Given the description of an element on the screen output the (x, y) to click on. 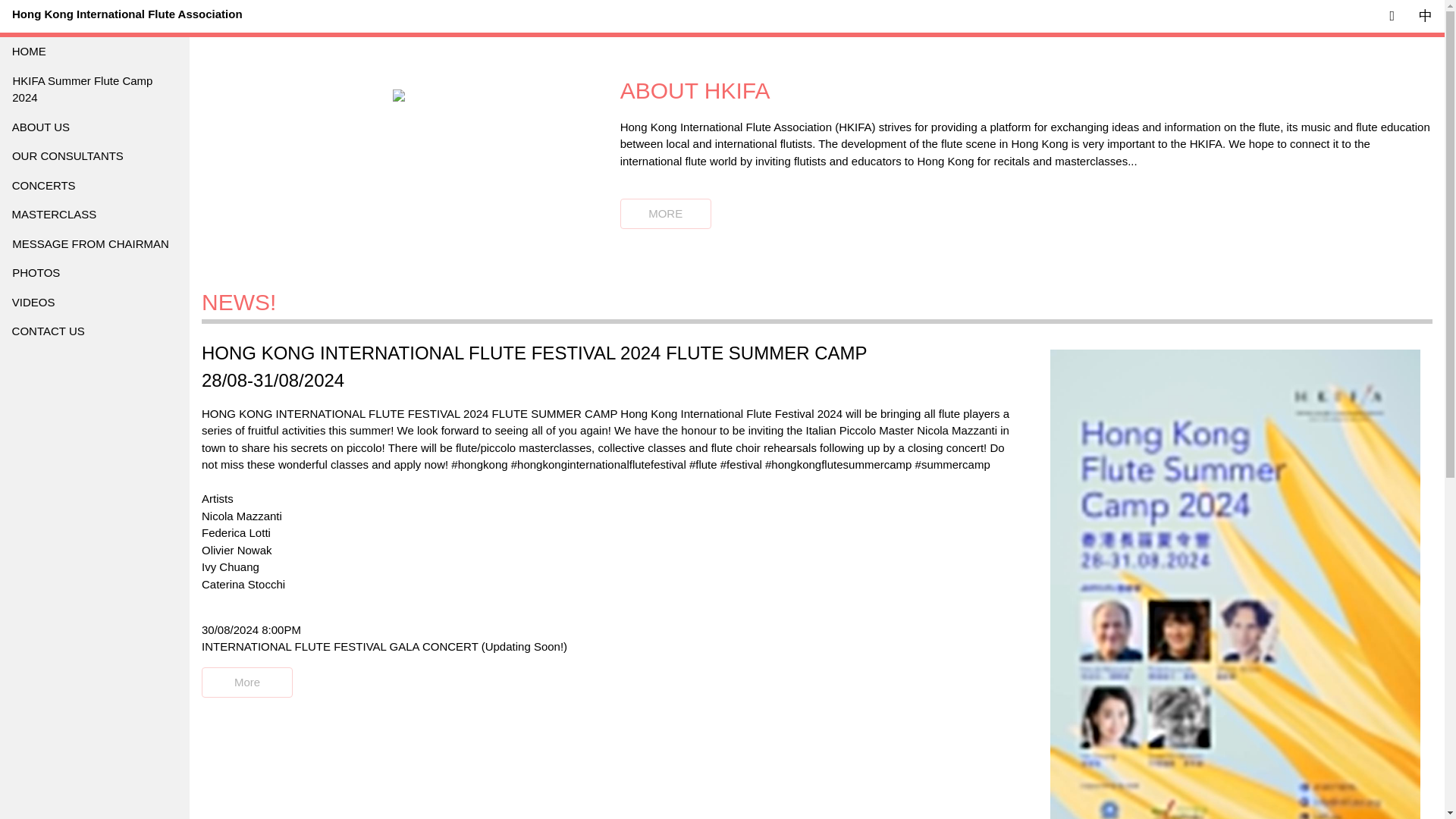
MORE (665, 214)
VIDEOS (94, 302)
MESSAGE FROM CHAIRMAN (93, 243)
MORE (664, 213)
OUR CONSULTANTS (83, 156)
More (247, 682)
More (247, 681)
ABOUT US (80, 126)
PHOTOS (93, 273)
MASTERCLASS (90, 214)
CONTACT US (94, 331)
HOME (66, 51)
CONCERTS (88, 185)
Hong Kong International Flute Association (127, 14)
HKIFA Summer Flute Camp 2024 (72, 89)
